Given the description of an element on the screen output the (x, y) to click on. 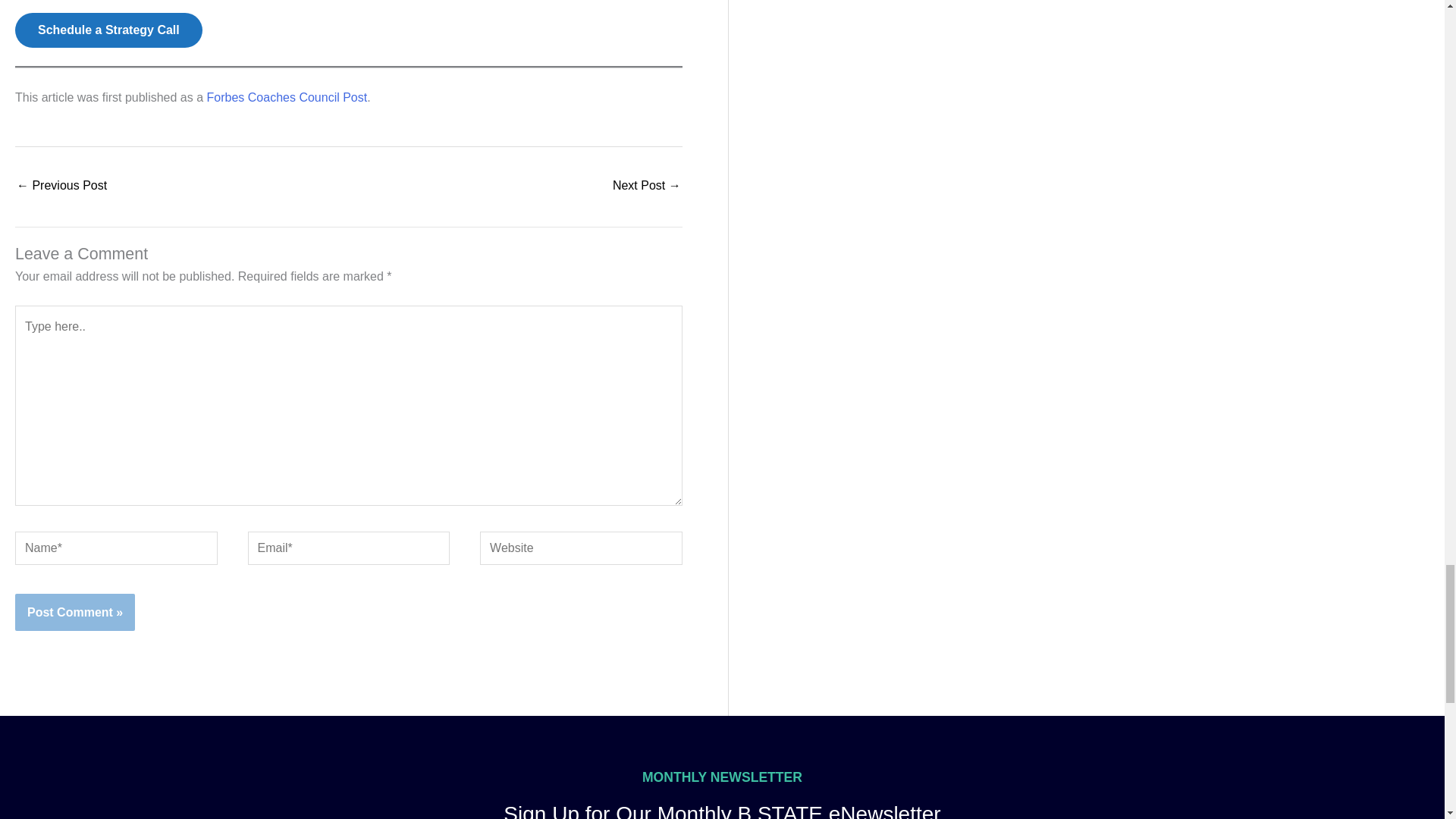
What is Organizational Culture in Healthcare? (61, 186)
